Given the description of an element on the screen output the (x, y) to click on. 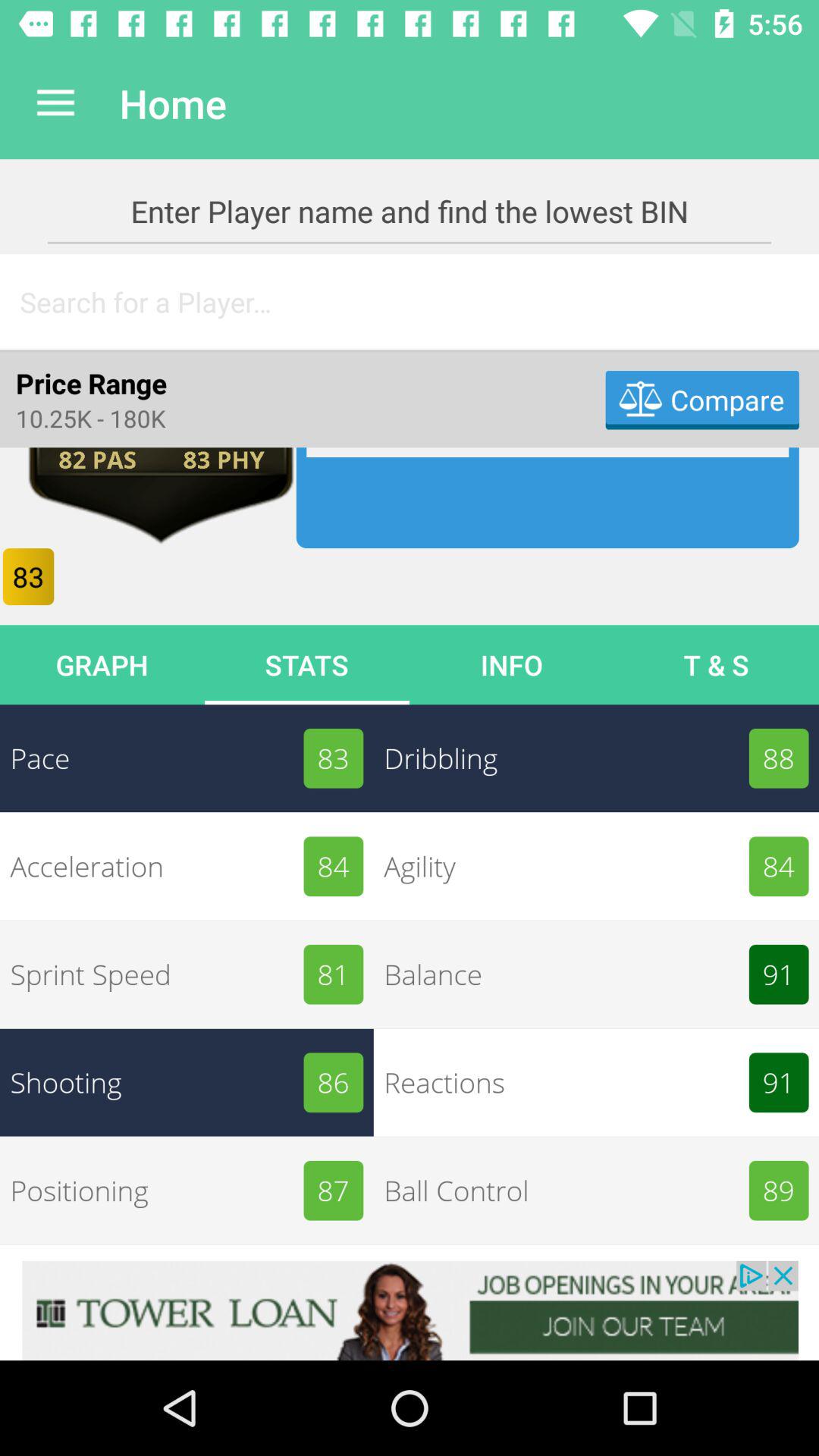
search for a player (409, 301)
